Given the description of an element on the screen output the (x, y) to click on. 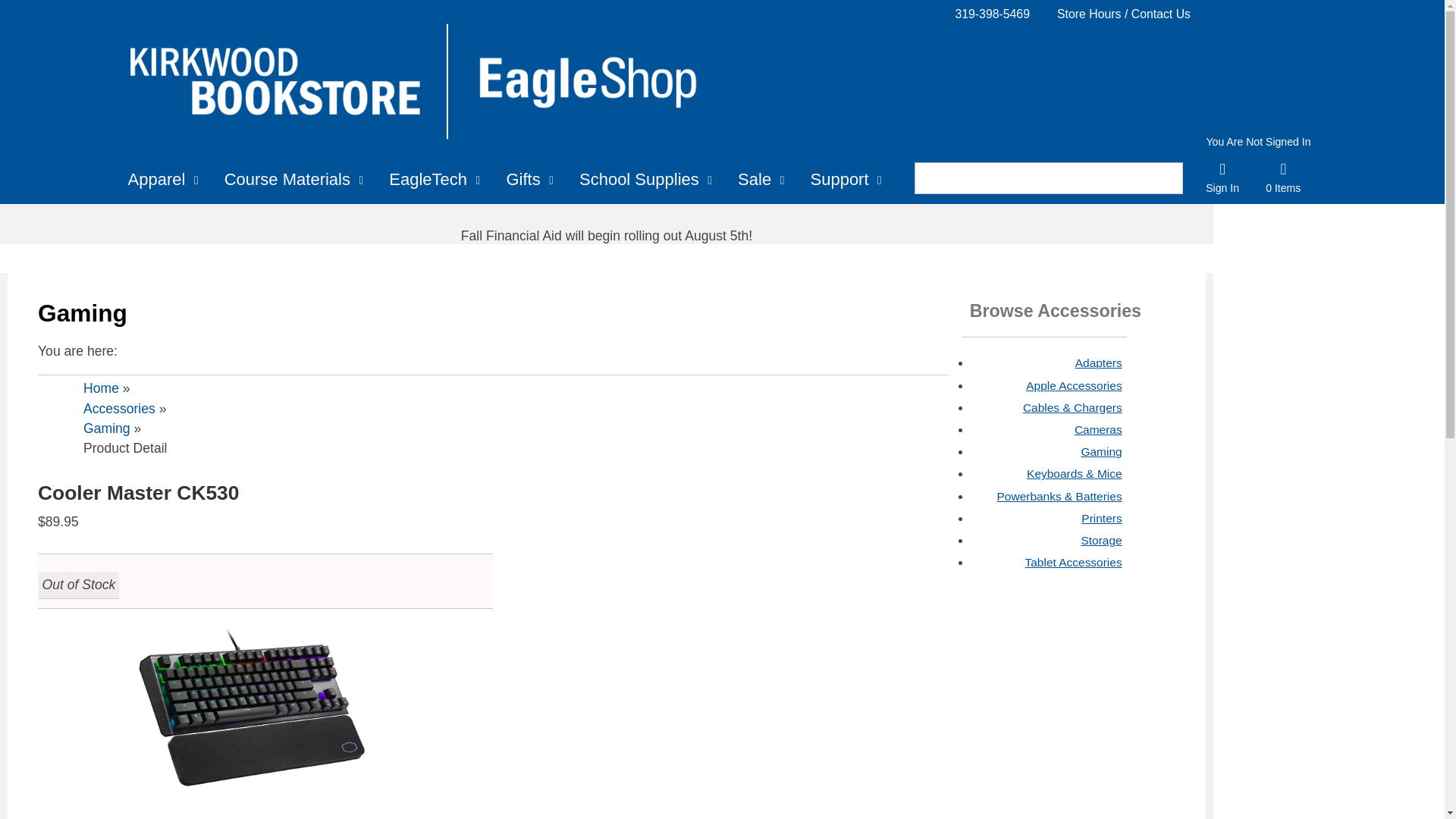
Cooler Master CK530 (251, 717)
319-398-5469 (992, 13)
Search (1029, 178)
